Given the description of an element on the screen output the (x, y) to click on. 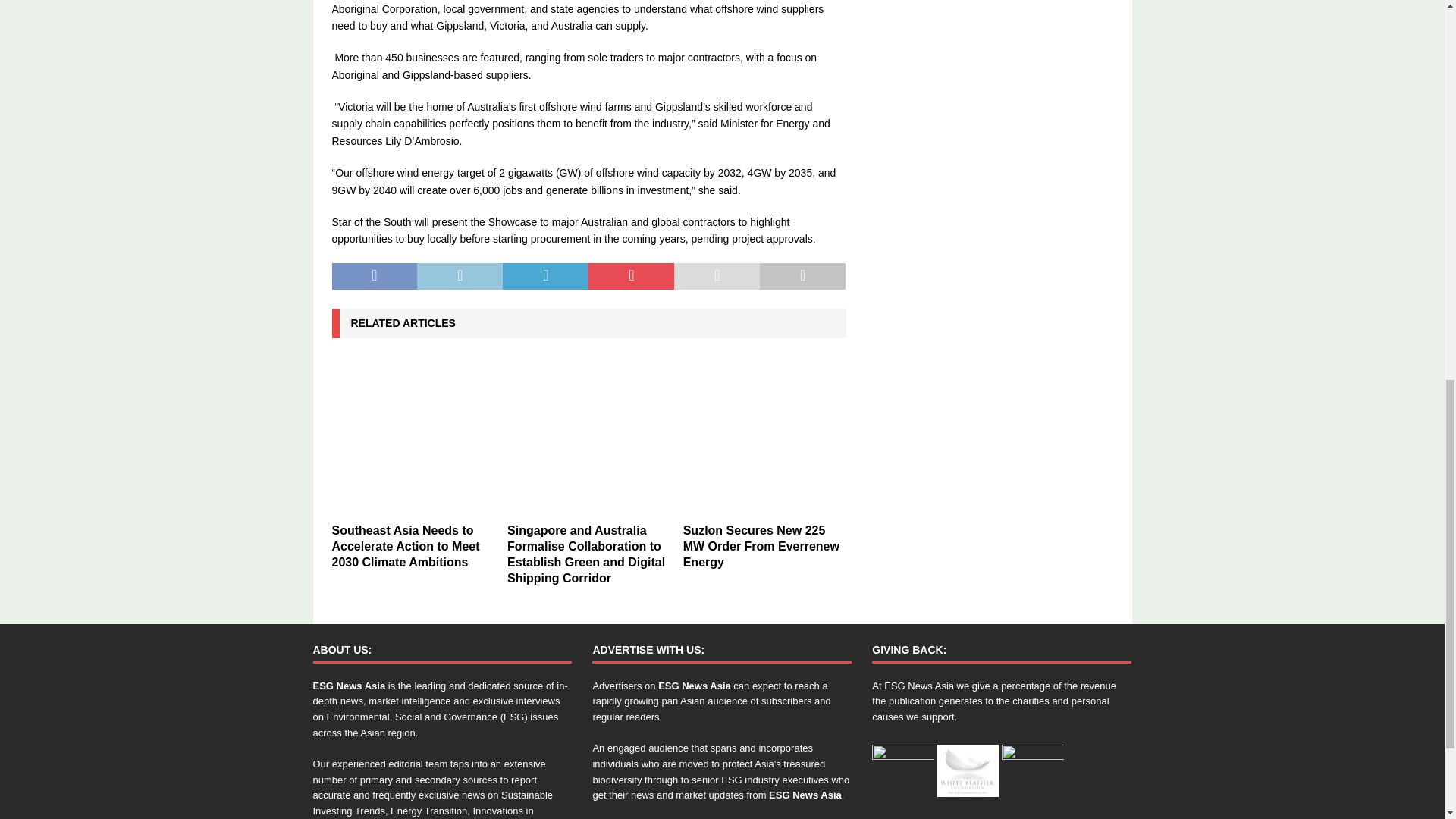
Suzlon Secures New 225 MW Order From Everrenew Energy (763, 434)
Suzlon Secures New 225 MW Order From Everrenew Energy (761, 546)
Suzlon Secures New 225 MW Order From Everrenew Energy (761, 546)
